Given the description of an element on the screen output the (x, y) to click on. 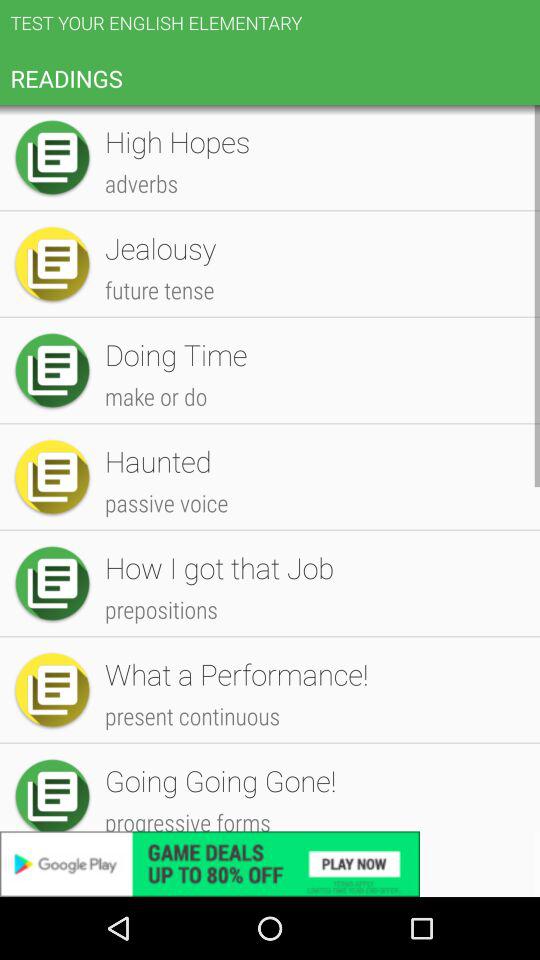
tap the hangman item (311, 625)
